Given the description of an element on the screen output the (x, y) to click on. 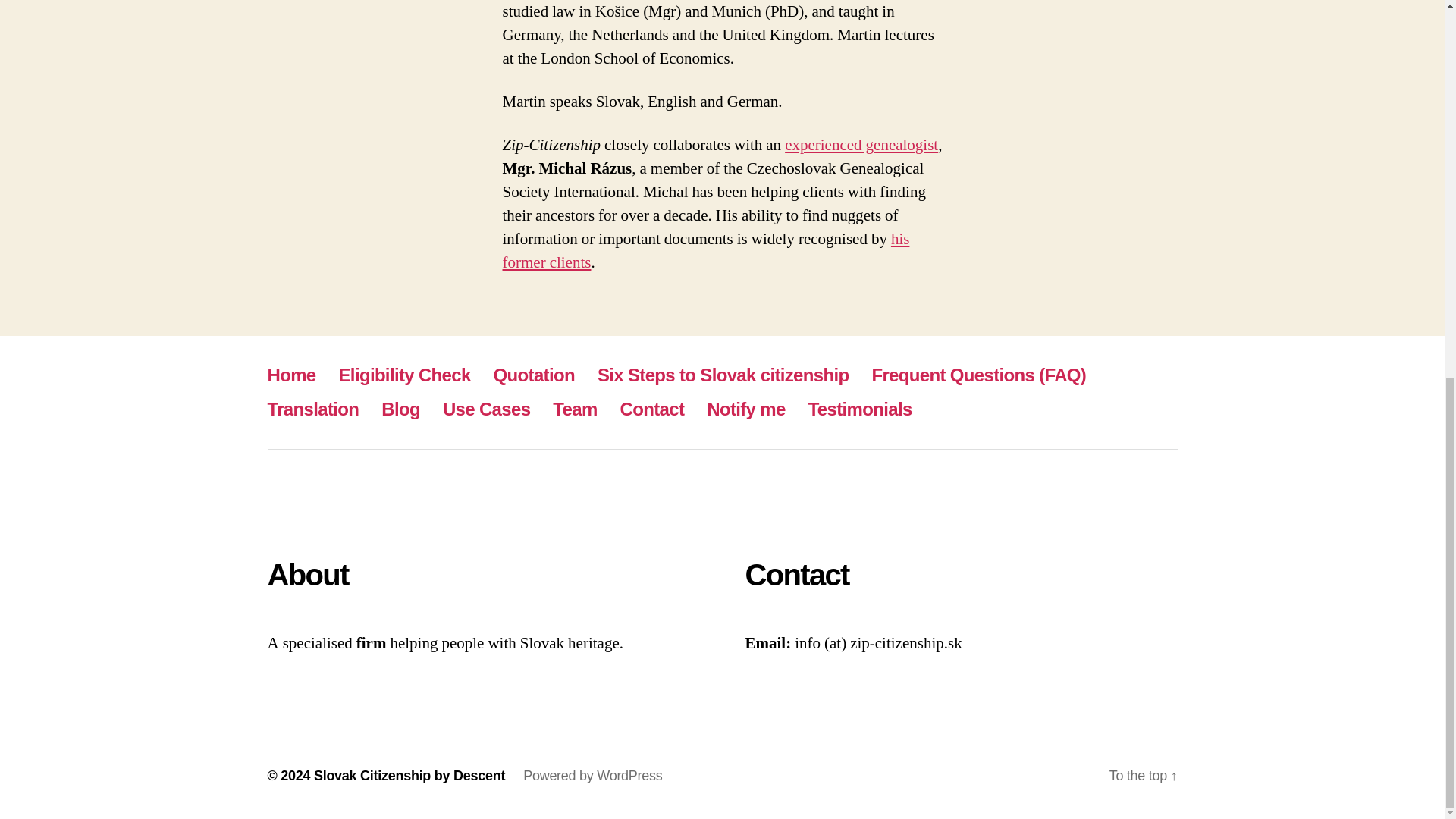
Eligibility Check (404, 374)
his former clients (705, 250)
Home (290, 374)
Translation (312, 408)
Six Steps to Slovak citizenship (722, 374)
experienced genealogist (860, 145)
Quotation (534, 374)
